Given the description of an element on the screen output the (x, y) to click on. 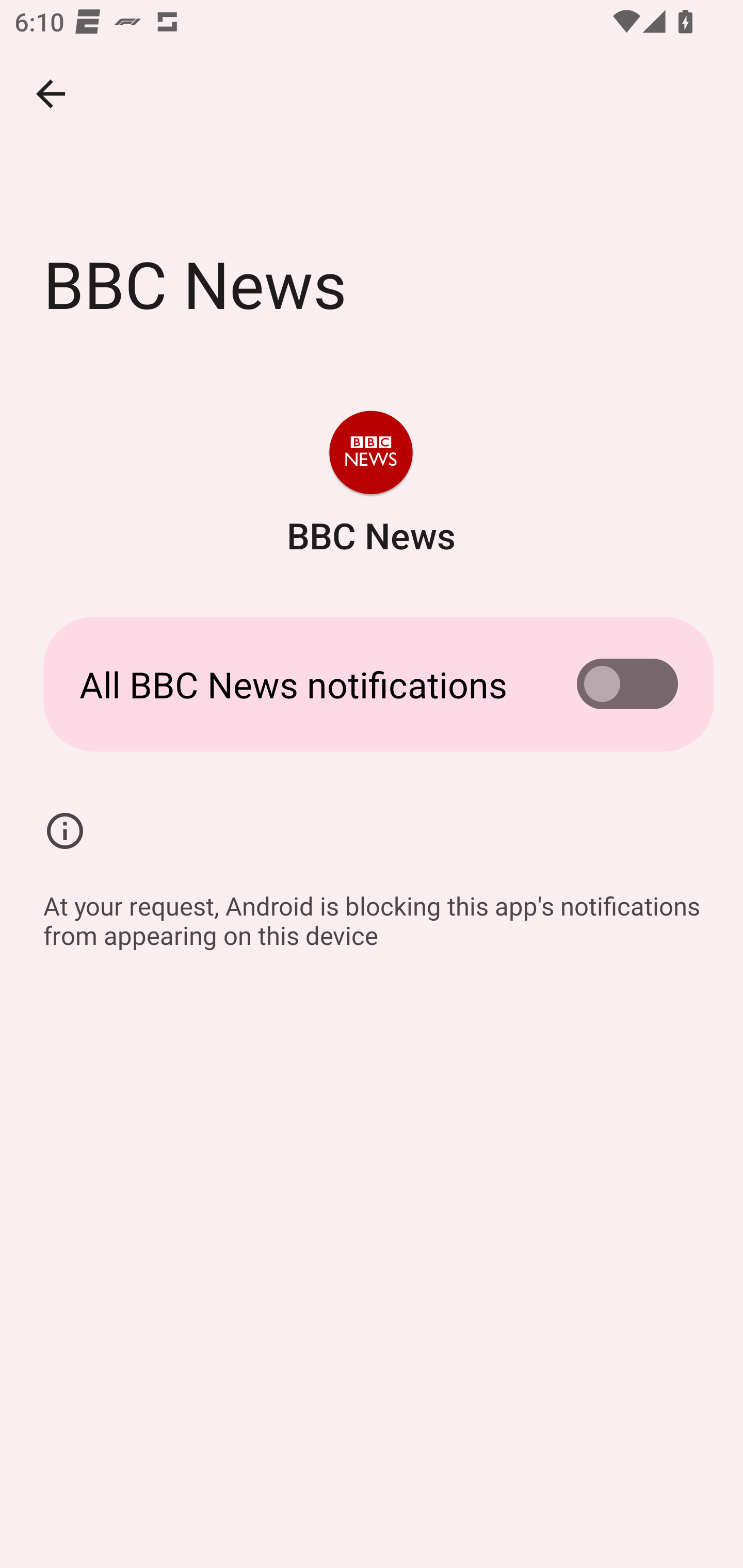
Navigate up (50, 93)
BBC News (370, 484)
All BBC News notifications (371, 684)
